Given the description of an element on the screen output the (x, y) to click on. 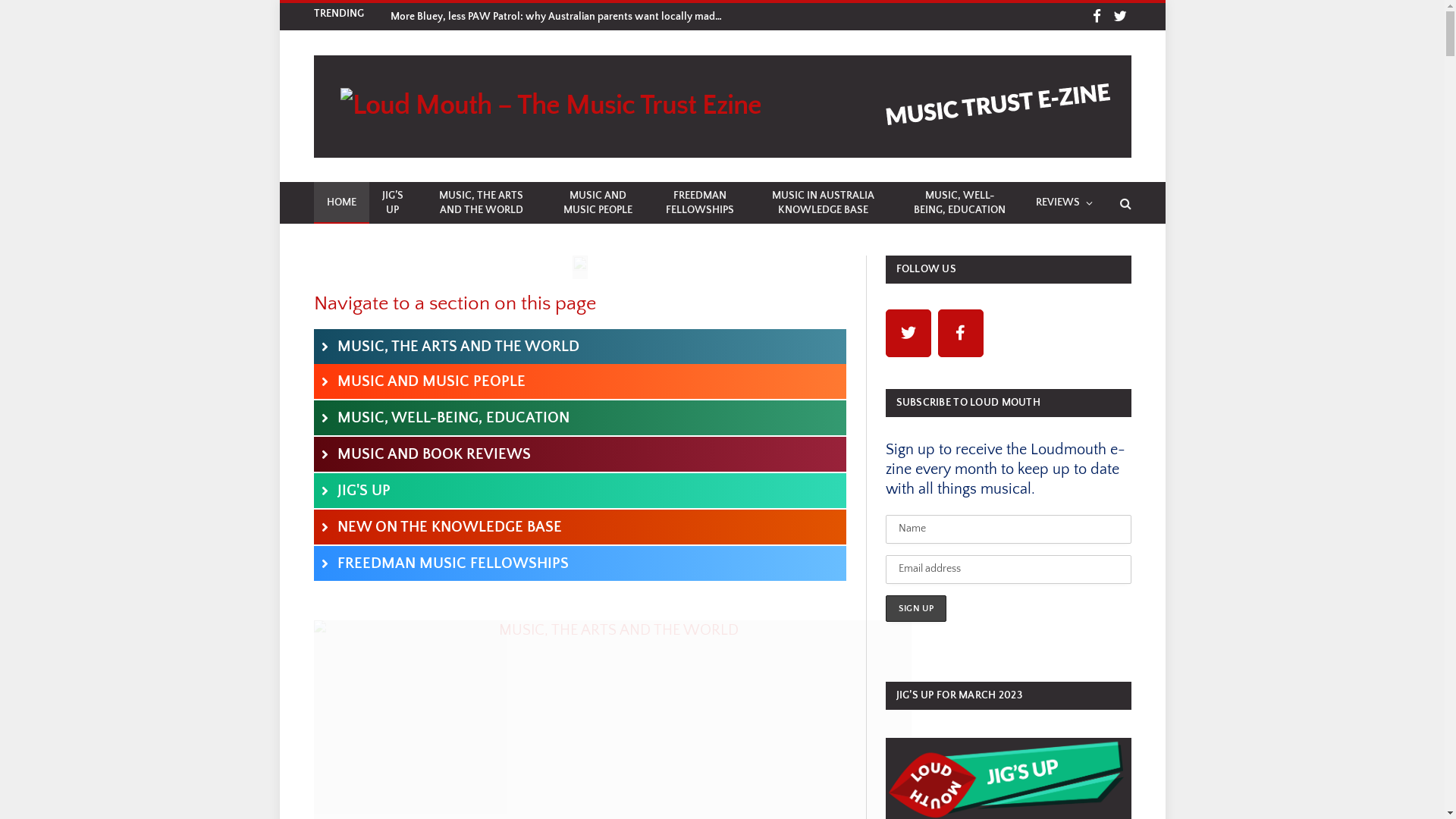
FREEDMAN FELLOWSHIPS Element type: text (699, 202)
MUSIC IN AUSTRALIA KNOWLEDGE BASE Element type: text (823, 202)
MUSIC AND MUSIC PEOPLE Element type: text (597, 202)
Twitter Element type: text (1120, 16)
MUSIC, WELL-BEING, EDUCATION Element type: text (579, 417)
Facebook Element type: text (1096, 16)
NEW ON THE KNOWLEDGE BASE Element type: text (579, 526)
JIG'S UP Element type: text (579, 490)
Facebook Element type: hover (959, 333)
Search Element type: hover (1123, 202)
Twitter Element type: hover (908, 333)
MUSIC, THE ARTS AND THE WORLD Element type: text (579, 346)
HOME Element type: text (341, 202)
Sign up Element type: text (916, 608)
REVIEWS Element type: text (1063, 202)
MUSIC AND BOOK REVIEWS Element type: text (579, 453)
MUSIC, THE ARTS AND THE WORLD Element type: text (480, 202)
MUSIC, WELL-BEING, EDUCATION Element type: text (959, 202)
FREEDMAN MUSIC FELLOWSHIPS Element type: text (579, 563)
MUSIC AND MUSIC PEOPLE Element type: text (579, 381)
